Given the description of an element on the screen output the (x, y) to click on. 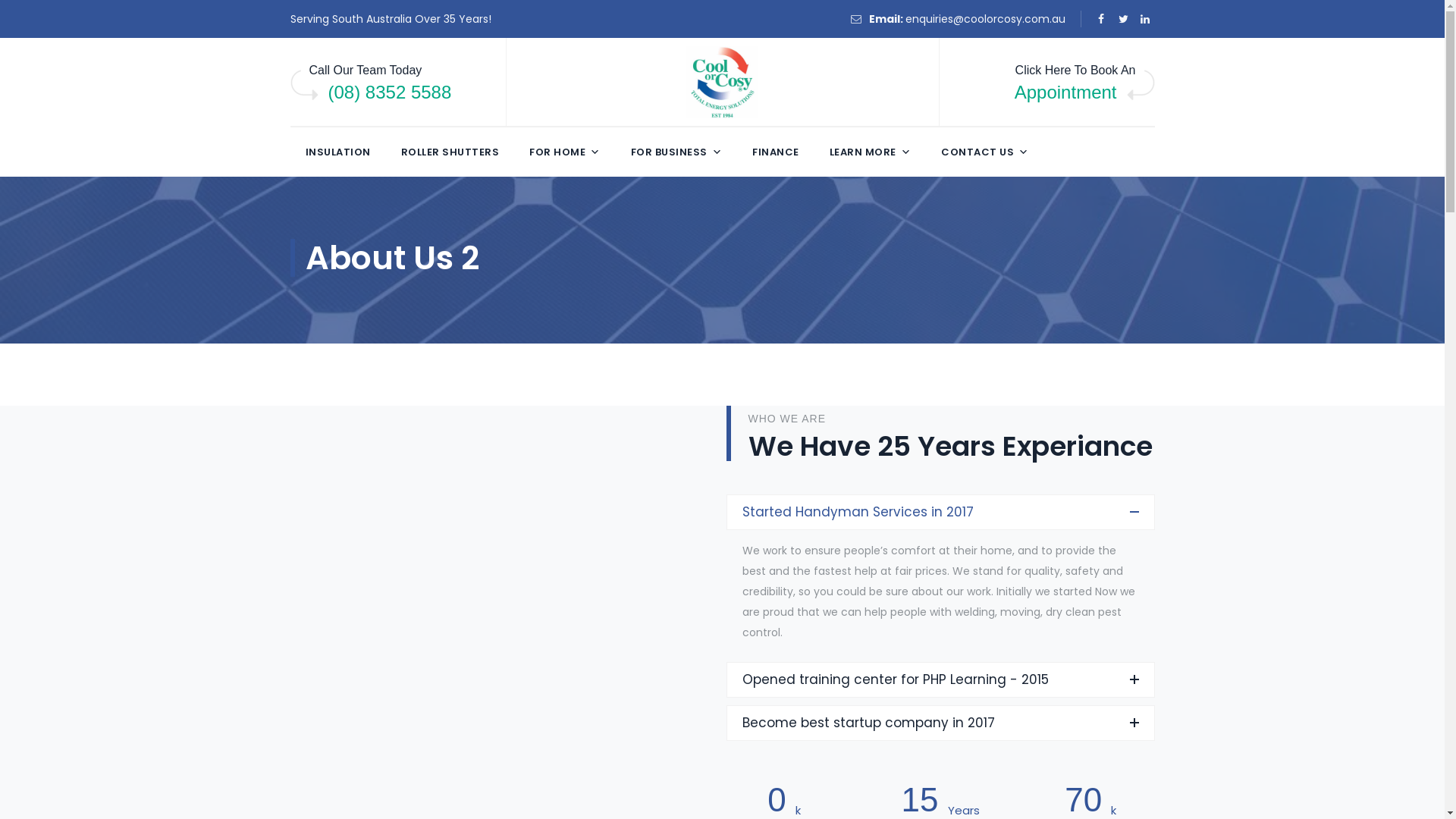
enquiries@coolorcosy.com.au Element type: text (985, 18)
Become best startup company in 2017 Element type: text (939, 722)
INSULATION Element type: text (337, 151)
ROLLER SHUTTERS Element type: text (449, 151)
Click Here To Book An
Appointment Element type: text (1065, 81)
LEARN MORE Element type: text (870, 151)
Opened training center for PHP Learning - 2015 Element type: text (939, 679)
FOR HOME Element type: text (564, 151)
FOR BUSINESS Element type: text (676, 151)
Started Handyman Services in 2017 Element type: text (939, 511)
CONTACT US Element type: text (985, 151)
FINANCE Element type: text (775, 151)
Cool Or Cosy Element type: hover (721, 82)
Call Our Team Today
(08) 8352 5588 Element type: text (389, 81)
